Given the description of an element on the screen output the (x, y) to click on. 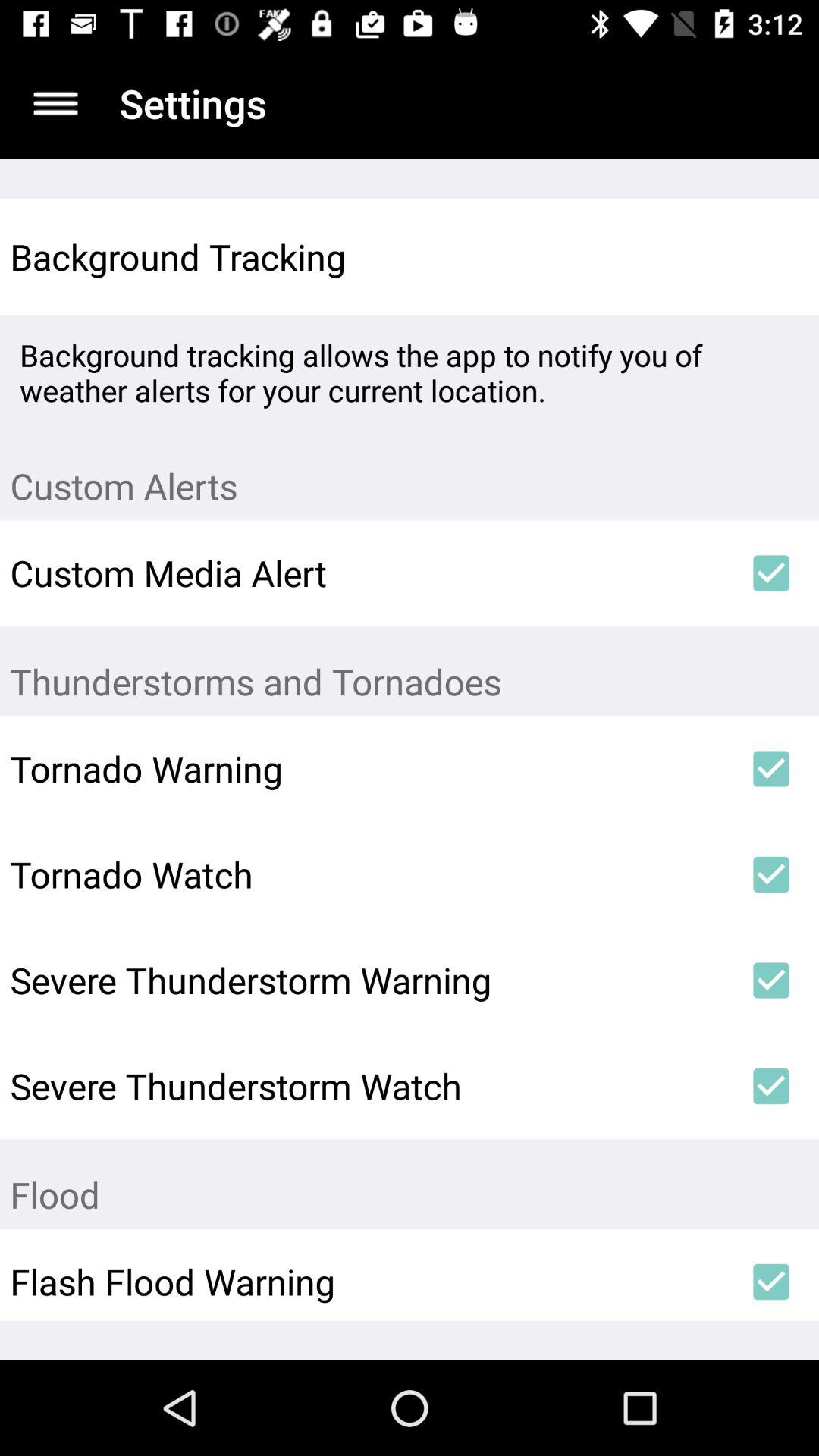
choose item next to the settings (55, 103)
